Given the description of an element on the screen output the (x, y) to click on. 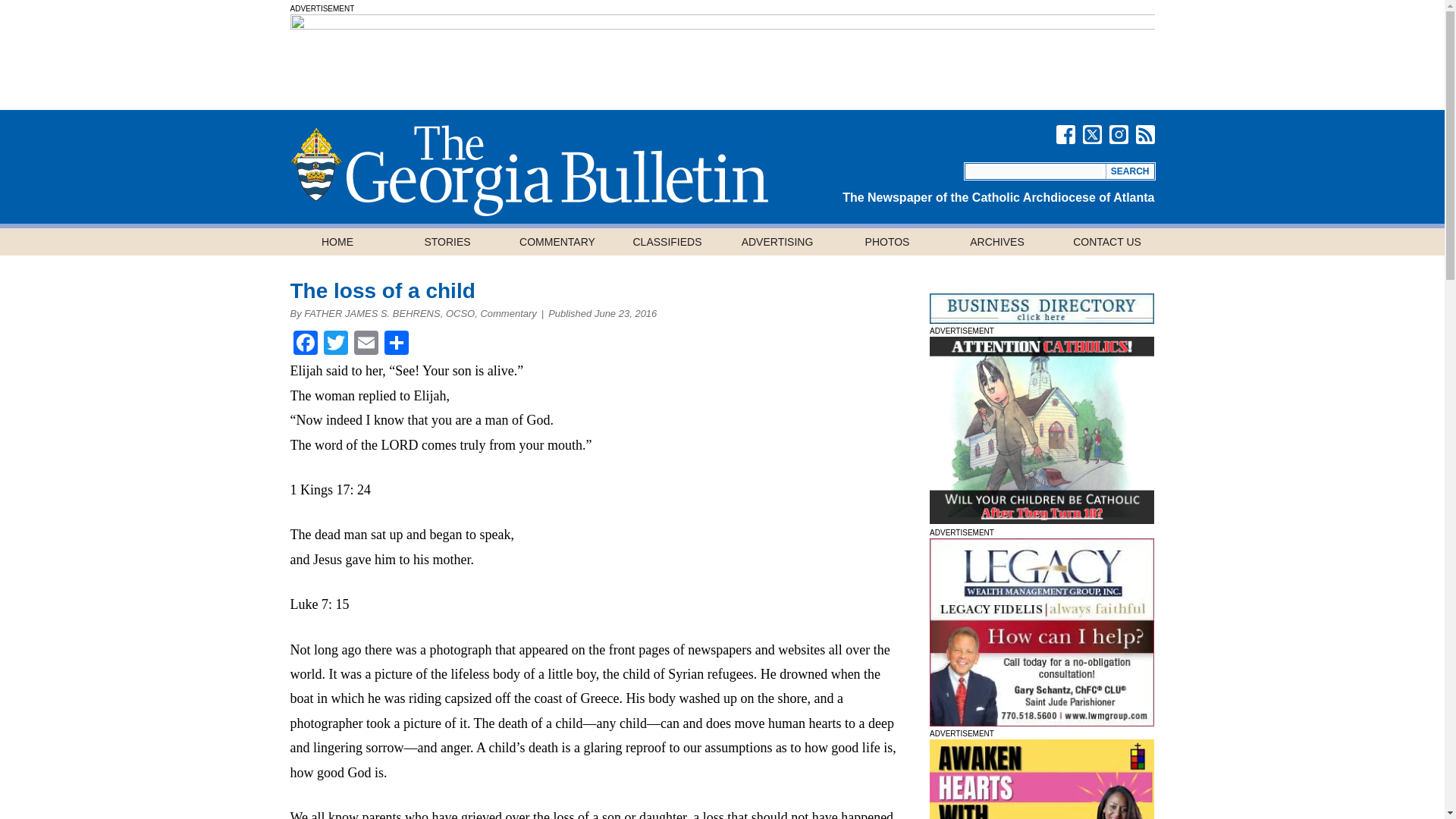
Facebook (304, 344)
CLASSIFIEDS (667, 241)
HOME (336, 241)
COMMENTARY (556, 241)
Search (1129, 171)
Email (365, 344)
Twitter (335, 344)
Follow us on Twitter (1092, 134)
Follow us on Instagram (1117, 134)
Grab our RSS Feed (1144, 134)
